Given the description of an element on the screen output the (x, y) to click on. 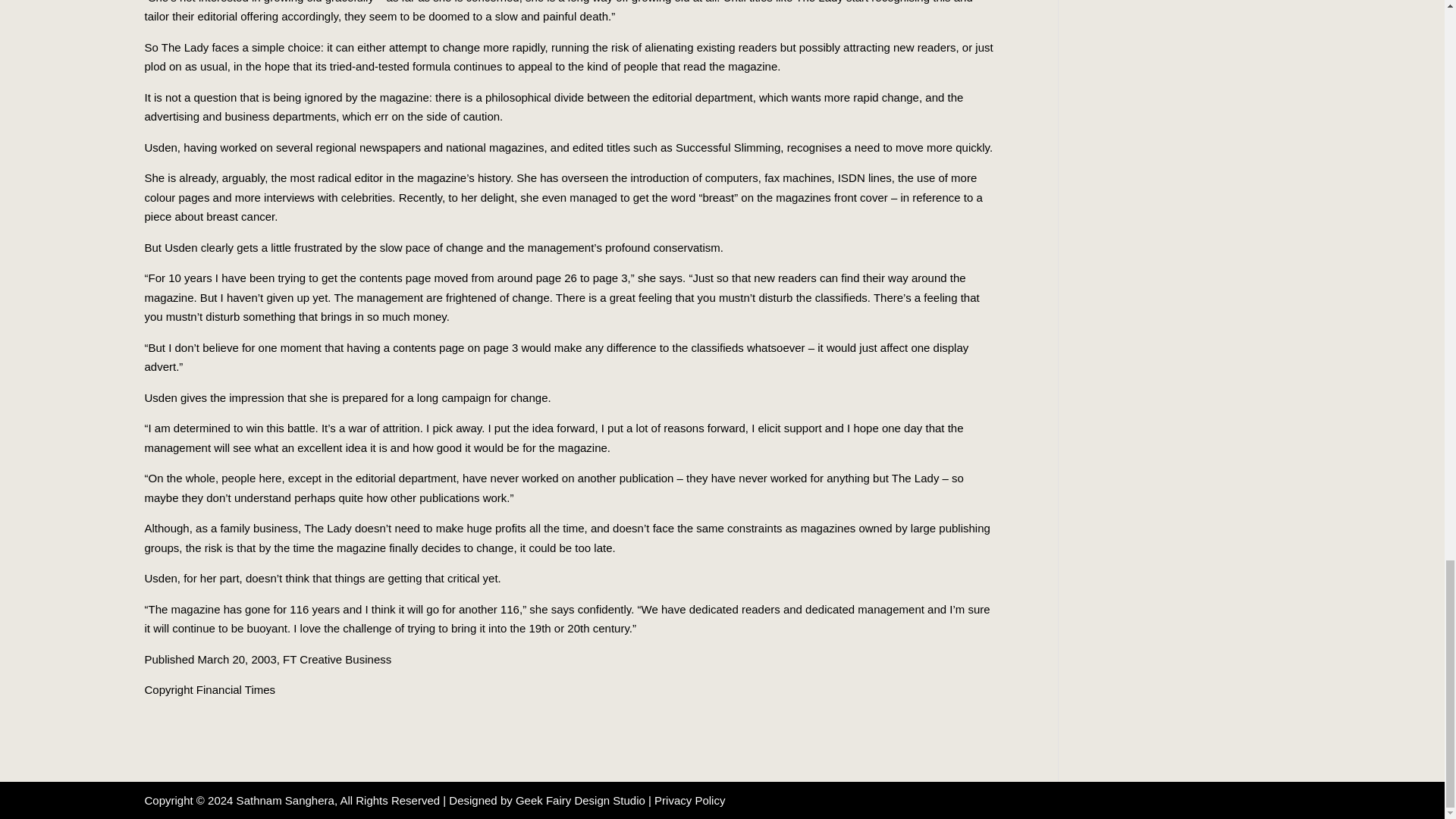
The Geek Fairy (582, 799)
Privacy Policy (687, 799)
